Given the description of an element on the screen output the (x, y) to click on. 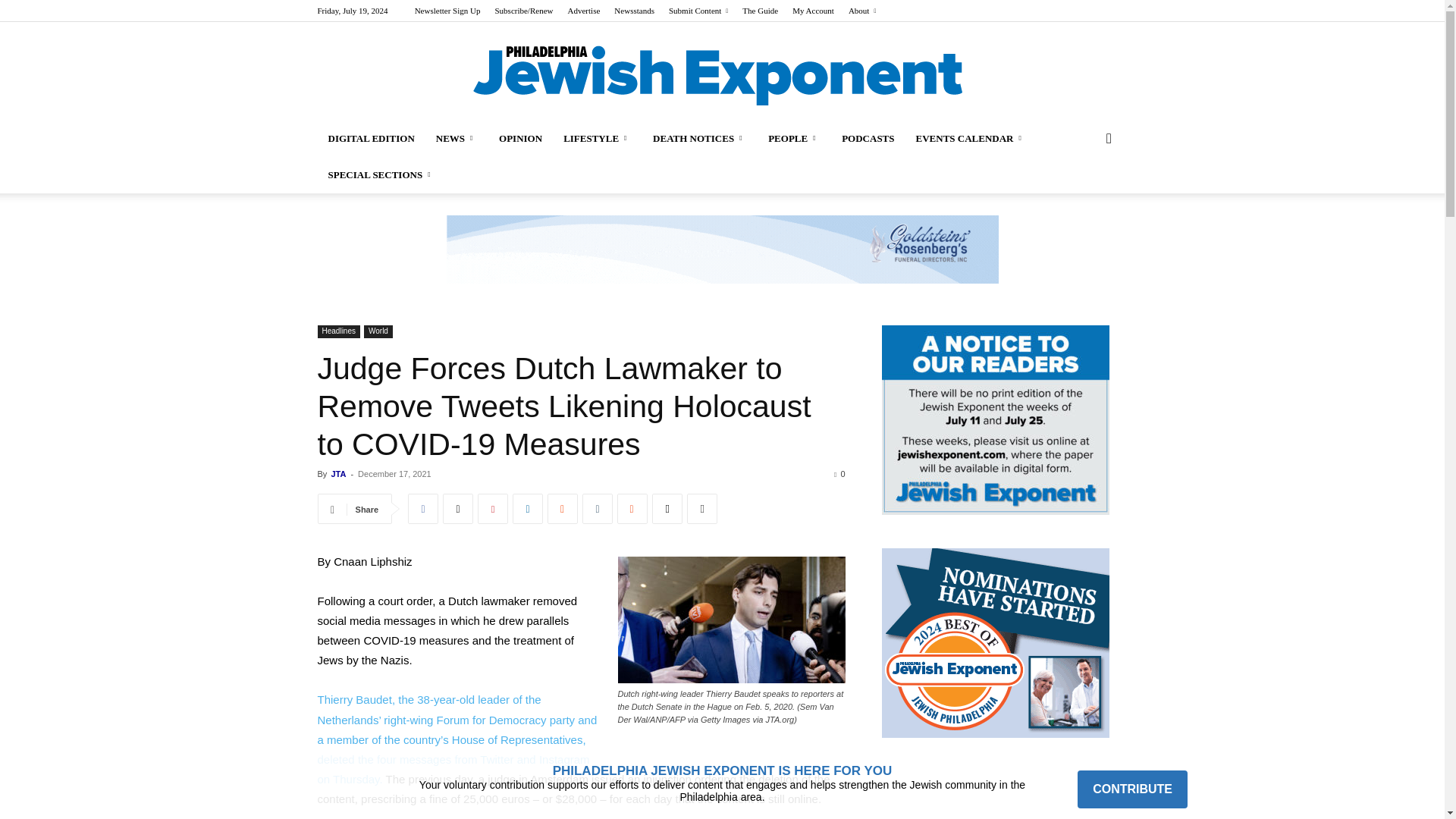
Mix (632, 508)
Newsletter Sign Up (447, 10)
Facebook (422, 508)
ReddIt (562, 508)
Print (702, 508)
Linkedin (527, 508)
Pinterest (492, 508)
Email (667, 508)
Tumblr (597, 508)
Twitter (457, 508)
